Given the description of an element on the screen output the (x, y) to click on. 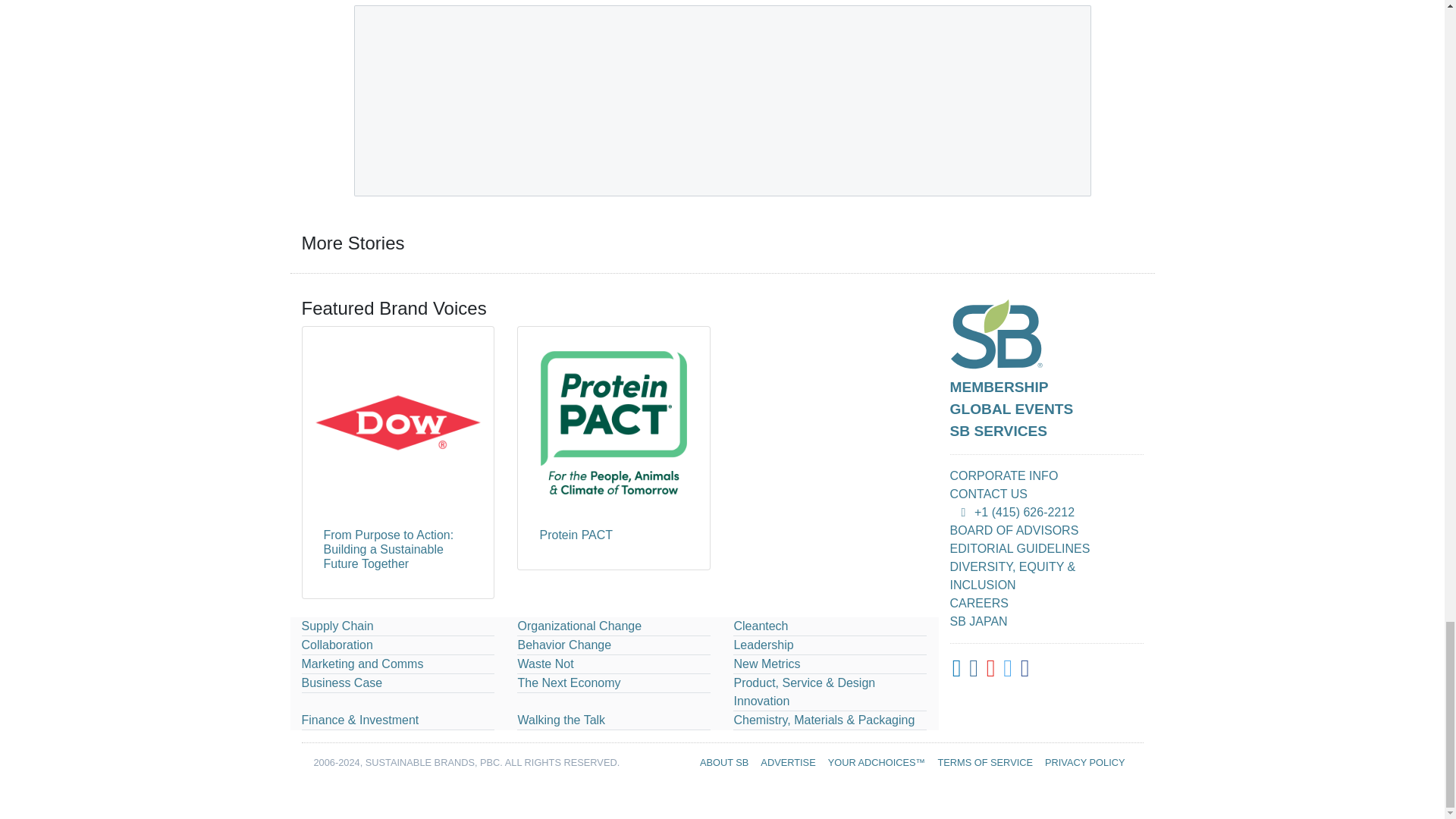
Telephone (963, 512)
